Given the description of an element on the screen output the (x, y) to click on. 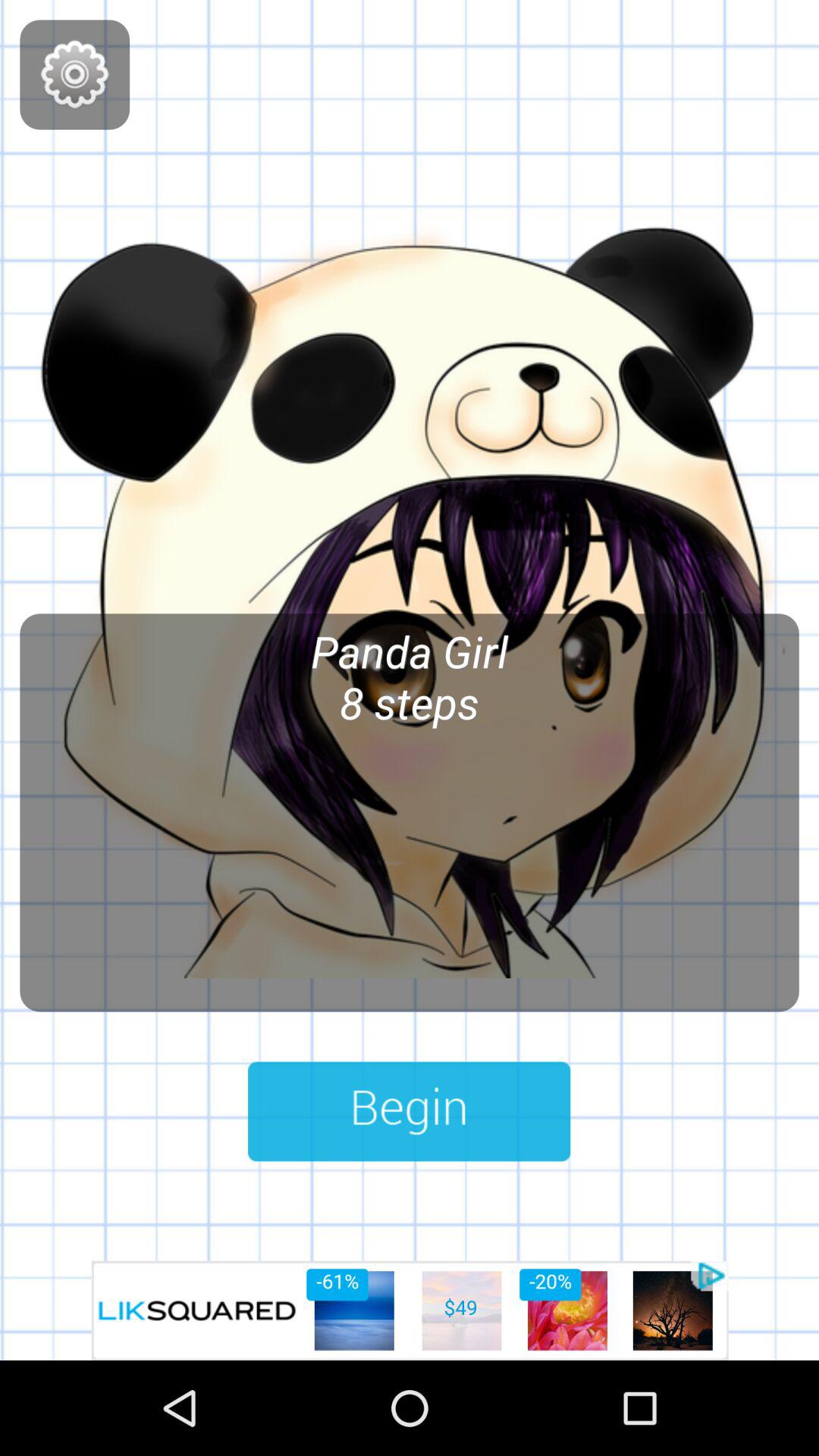
start button (408, 1111)
